Given the description of an element on the screen output the (x, y) to click on. 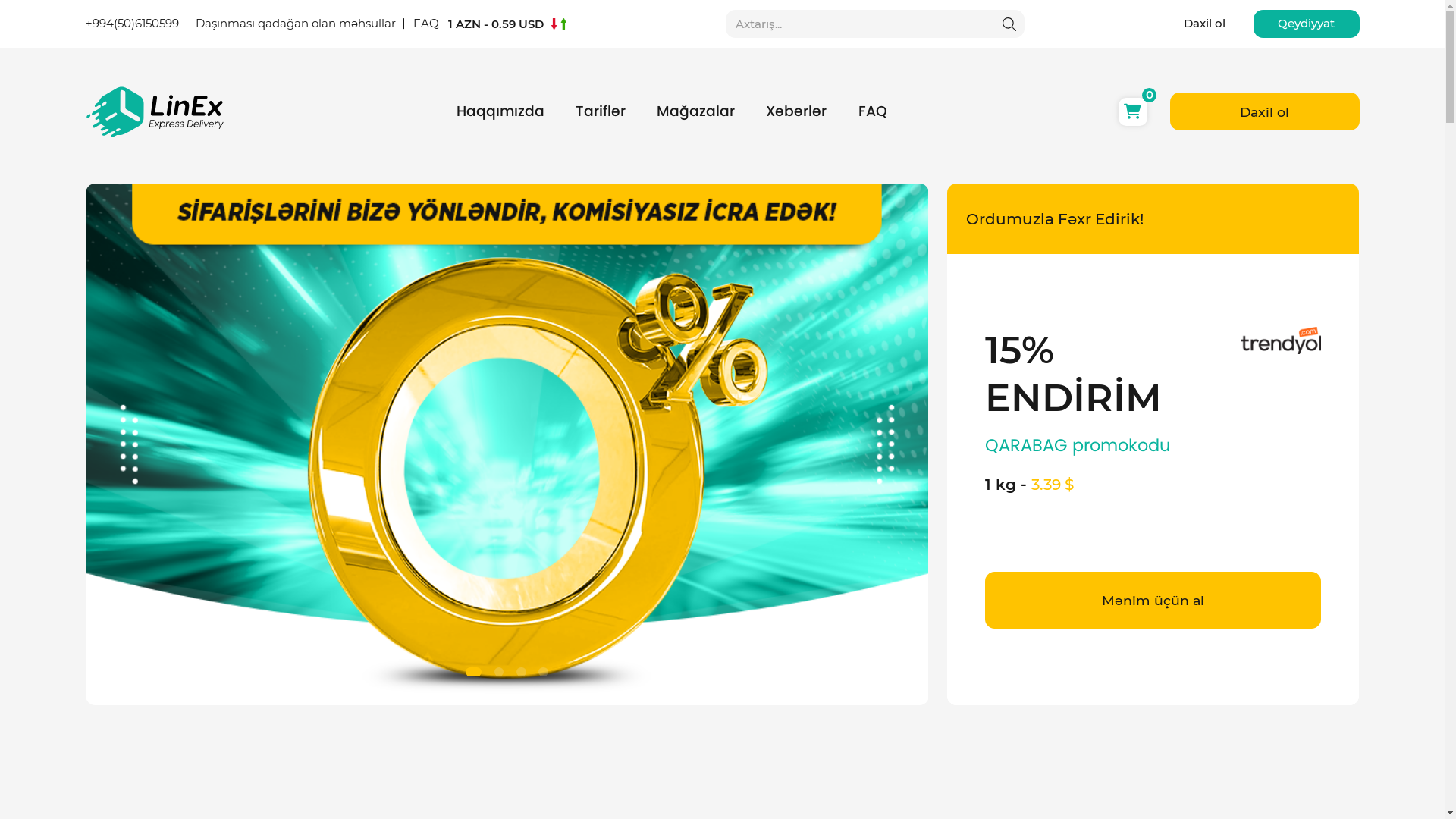
FAQ Element type: text (425, 23)
Qeydiyyat Element type: text (1306, 23)
+994(50)6150599 Element type: text (131, 23)
Daxil ol Element type: text (1263, 111)
0 Element type: text (1132, 111)
FAQ Element type: text (872, 111)
Daxil ol Element type: text (1203, 23)
